Given the description of an element on the screen output the (x, y) to click on. 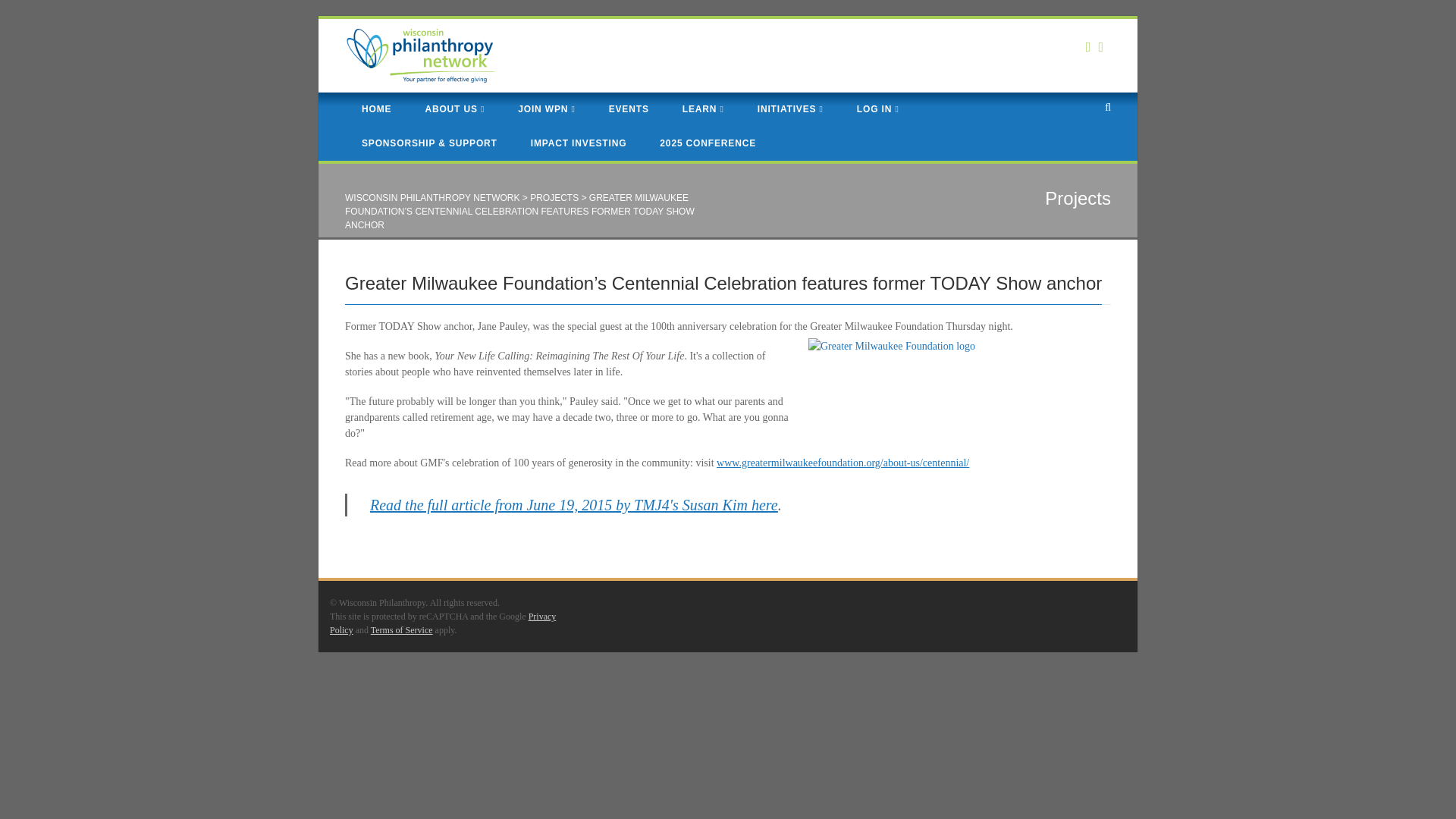
HOME (376, 109)
Go to Projects. (553, 197)
LEARN (702, 109)
JOIN WPN (545, 109)
Wisconsin Philanthropy Network (420, 55)
EVENTS (628, 109)
Go to Wisconsin Philanthropy Network. (432, 197)
ABOUT US (453, 109)
